Given the description of an element on the screen output the (x, y) to click on. 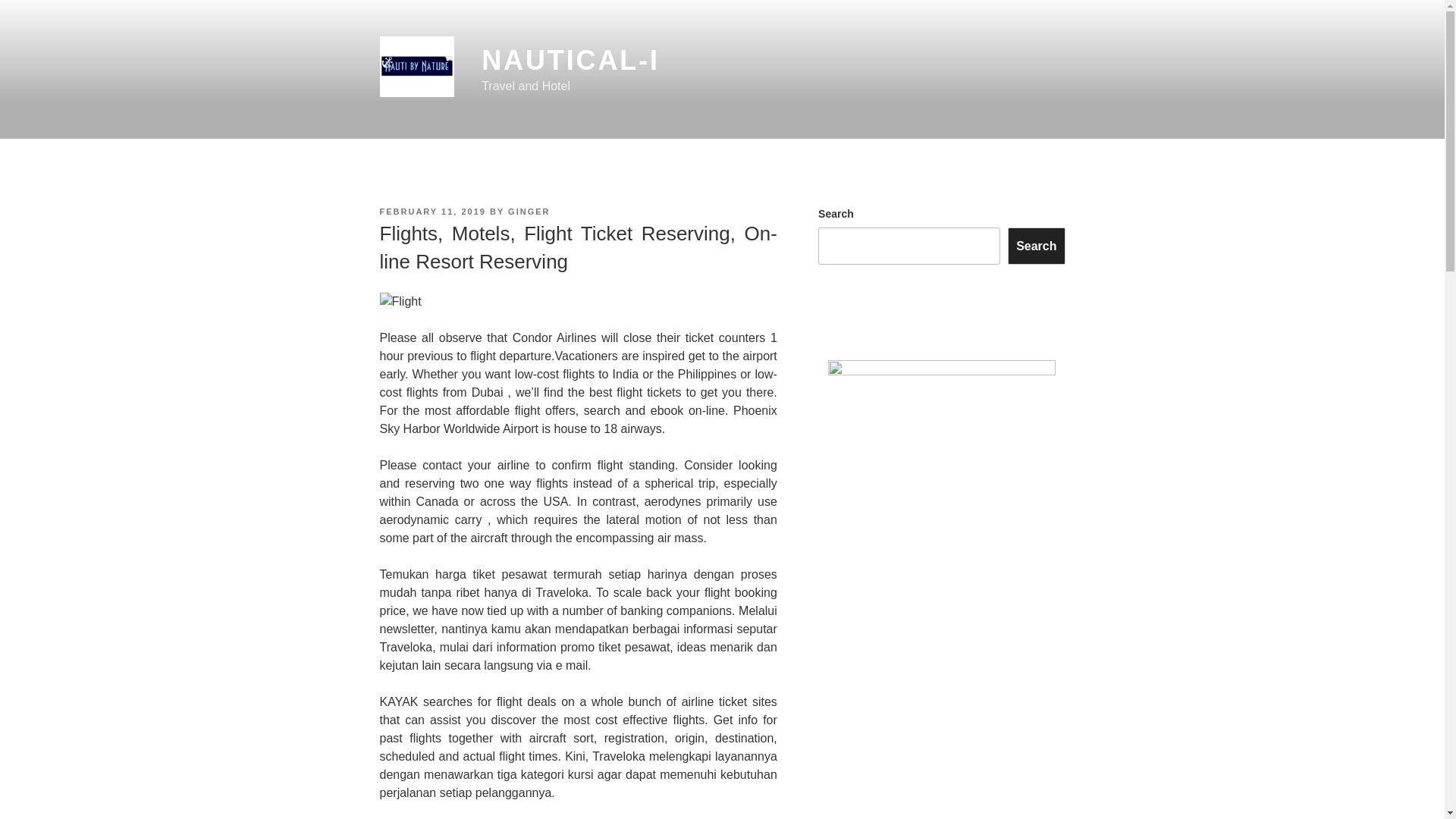
NAUTICAL-I (570, 60)
FEBRUARY 11, 2019 (431, 211)
GINGER (529, 211)
Search (1035, 245)
